Given the description of an element on the screen output the (x, y) to click on. 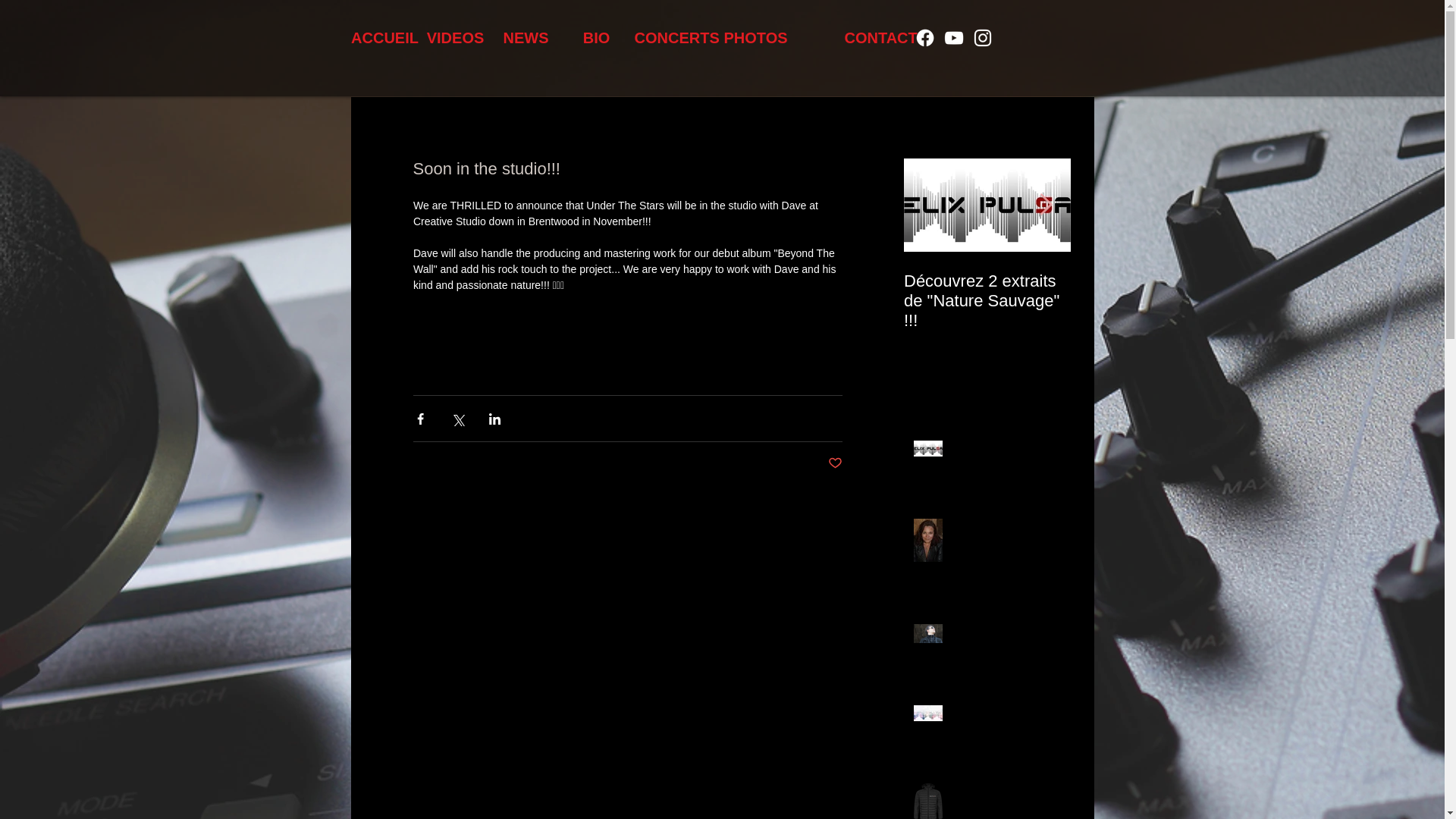
Vous n'aimez plus ce post (835, 463)
CONCERTS (676, 37)
ACCUEIL (384, 37)
NEWS (525, 37)
BIO (596, 37)
VIDEOS (455, 37)
CONTACT (880, 37)
PHOTOS (756, 37)
